Given the description of an element on the screen output the (x, y) to click on. 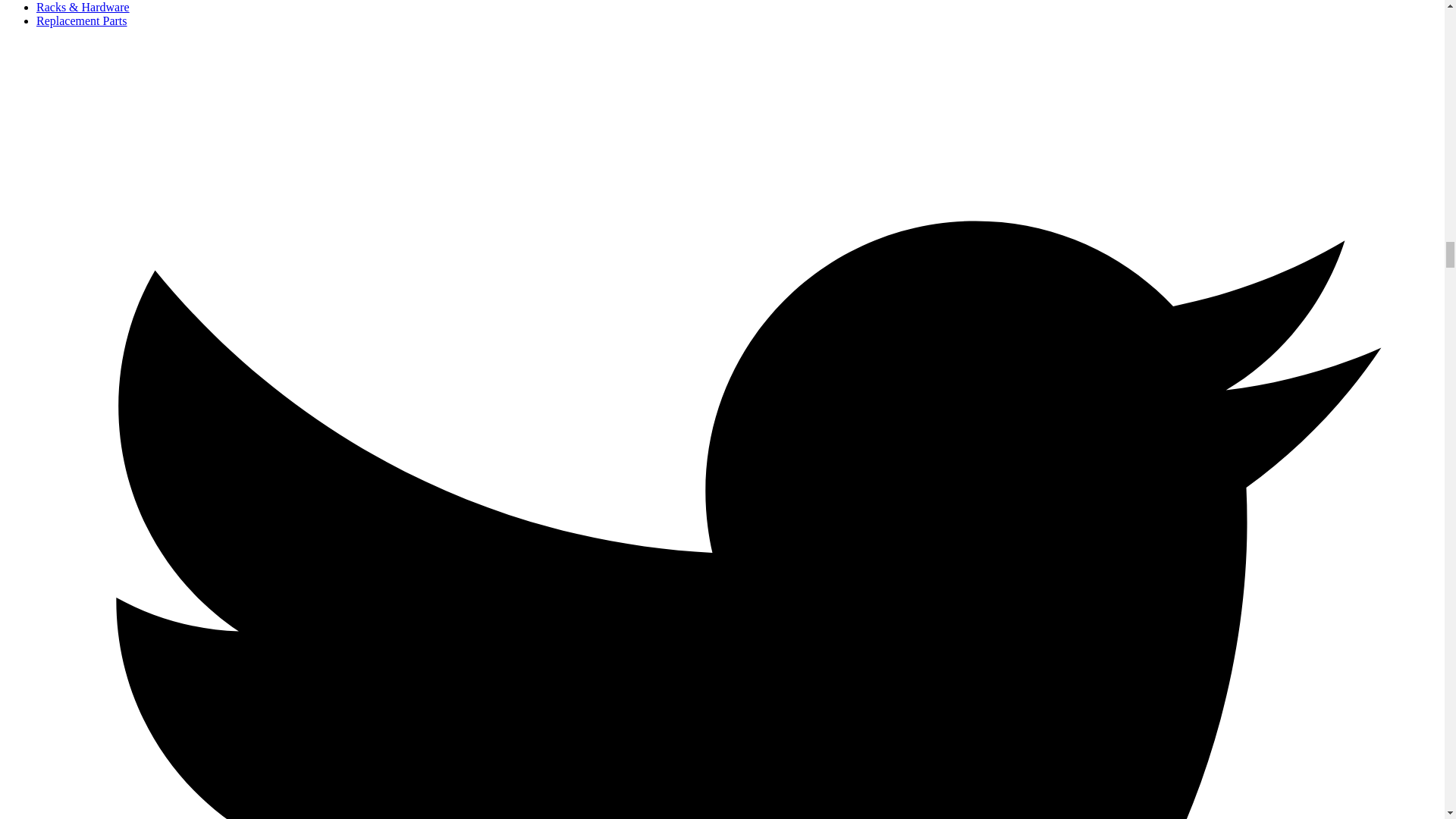
Replacement Parts (82, 20)
